Given the description of an element on the screen output the (x, y) to click on. 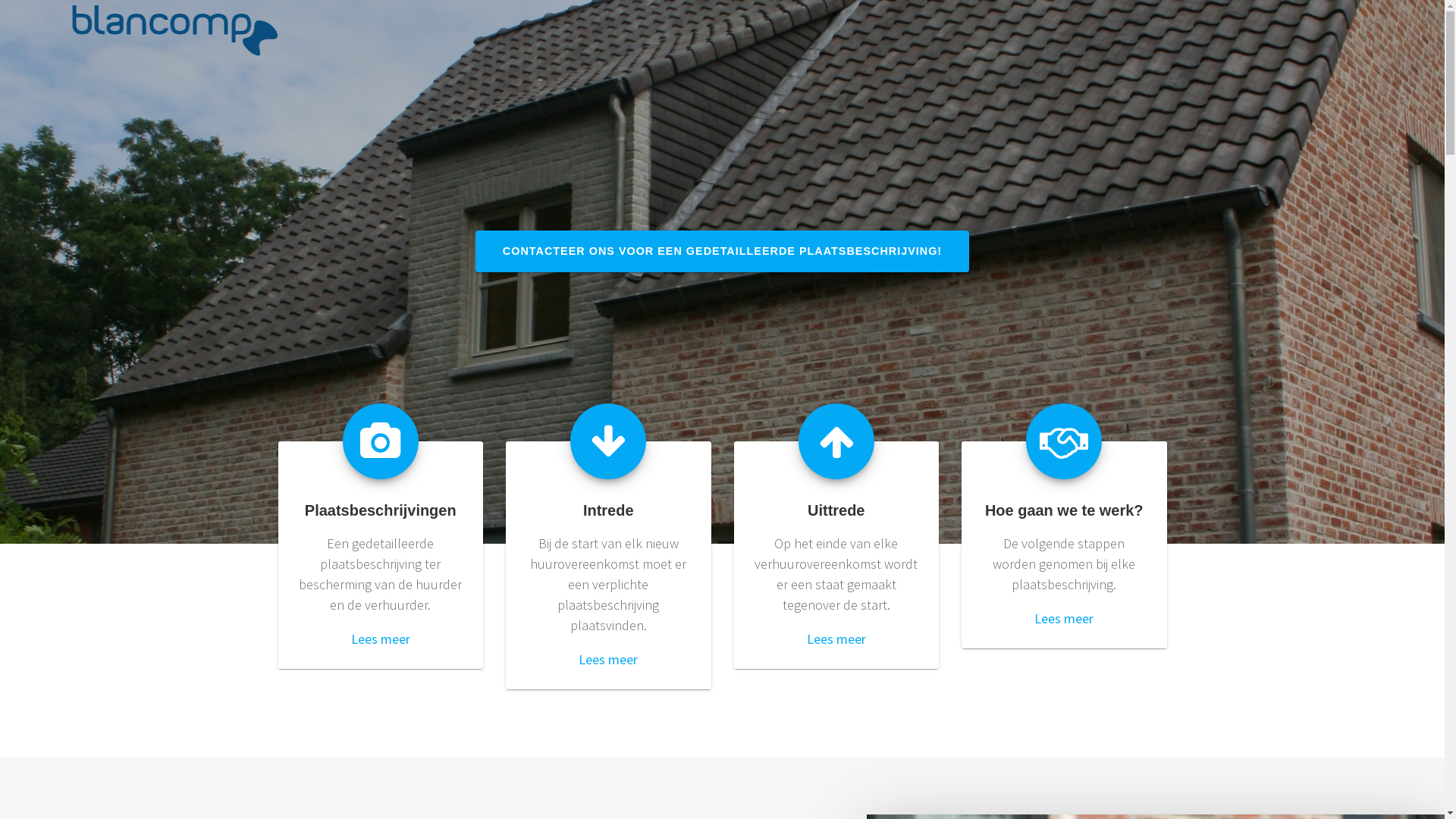
Lees meer Element type: text (836, 638)
CONTACTEER ONS VOOR EEN GEDETAILLEERDE PLAATSBESCHRIJVING! Element type: text (722, 251)
Lees meer Element type: text (607, 659)
Lees meer Element type: text (1063, 618)
Lees meer Element type: text (380, 638)
